Given the description of an element on the screen output the (x, y) to click on. 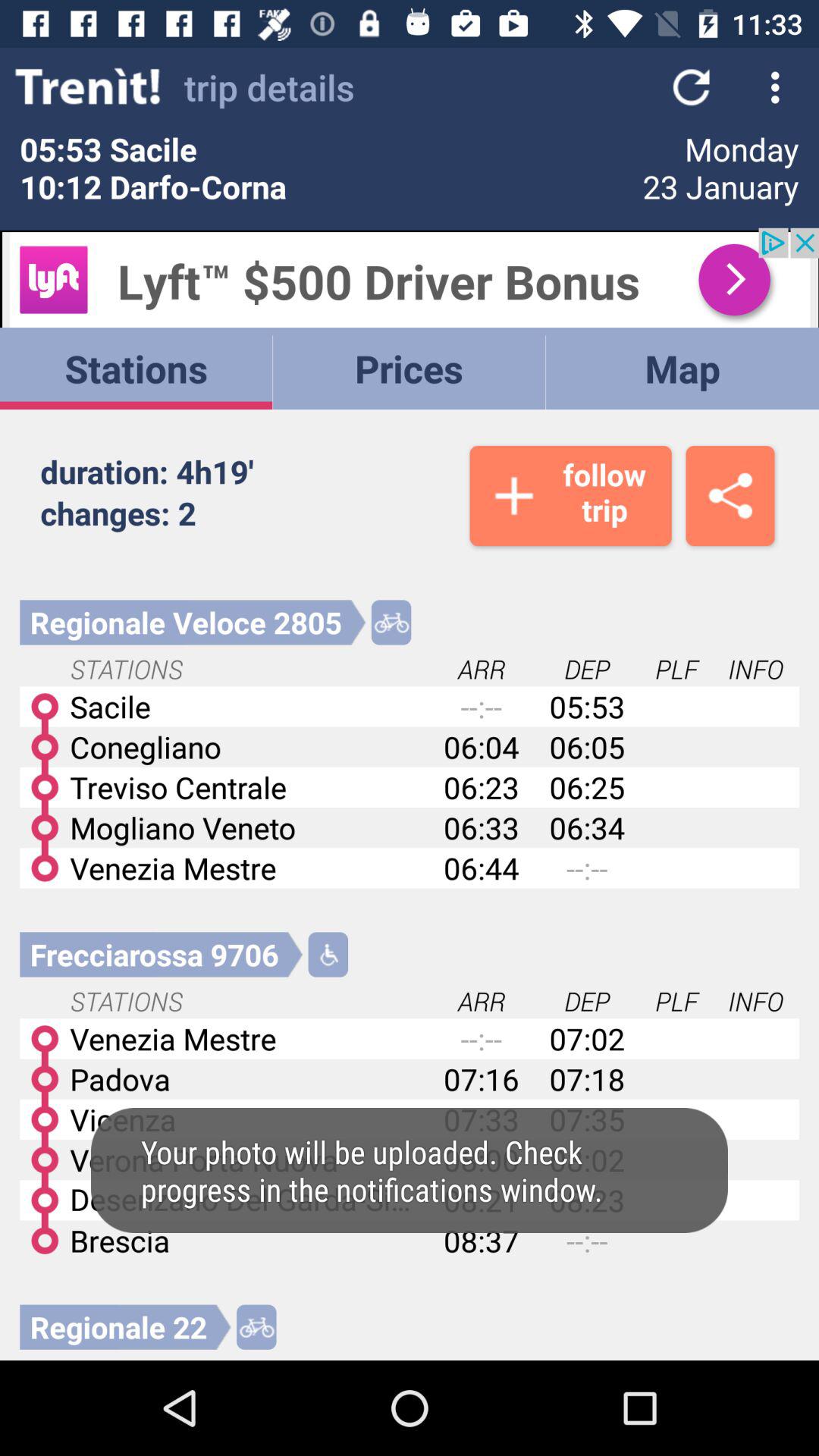
click on the add button below the text prices  (570, 495)
